Given the description of an element on the screen output the (x, y) to click on. 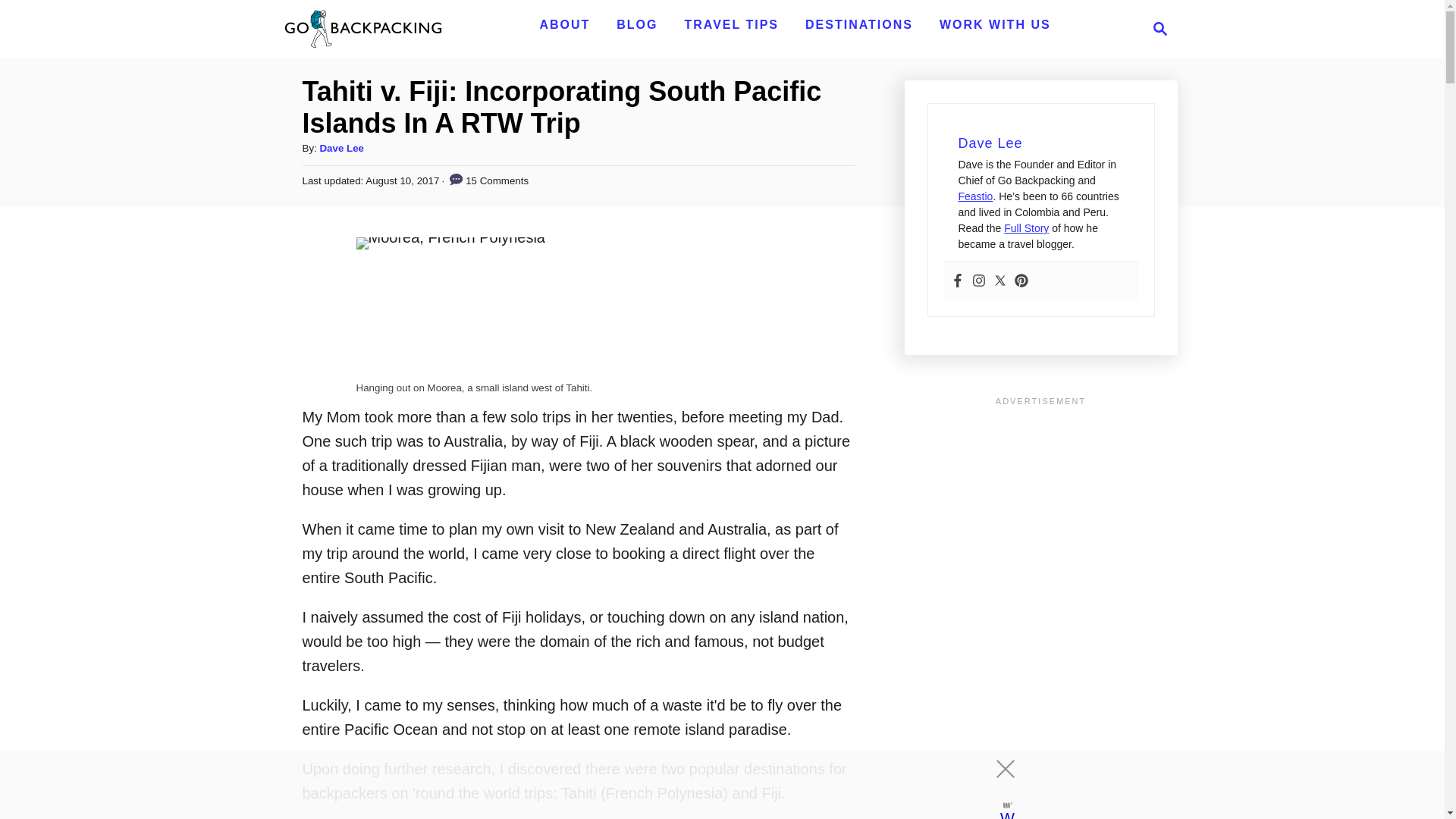
BLOG (636, 24)
About (563, 24)
Destinations (858, 24)
Blog (1155, 28)
Magnifying Glass (636, 24)
DESTINATIONS (1160, 28)
Travel Tips (858, 24)
TRAVEL TIPS (731, 24)
ABOUT (731, 24)
